Given the description of an element on the screen output the (x, y) to click on. 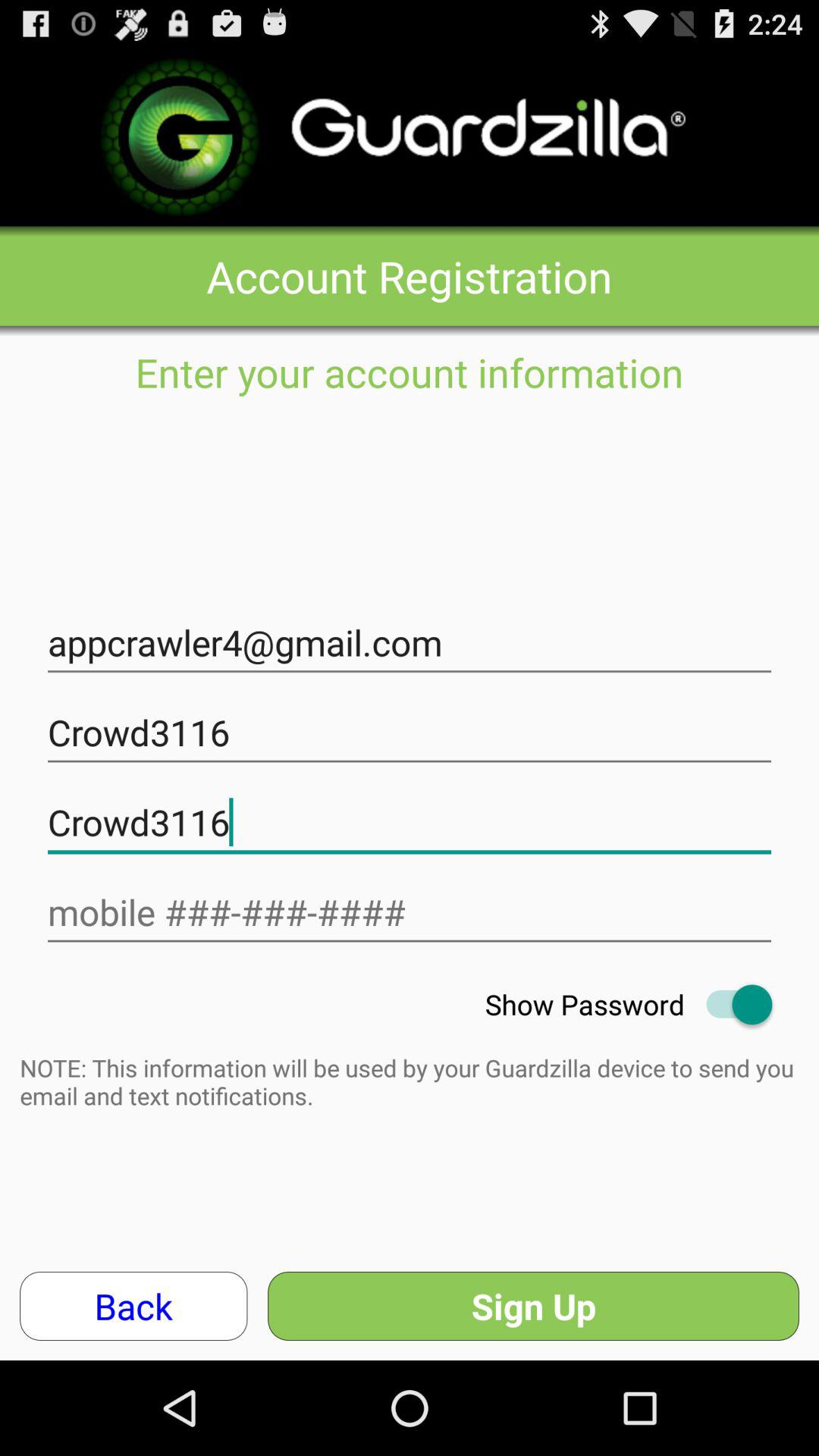
enter your mobile number (409, 912)
